Given the description of an element on the screen output the (x, y) to click on. 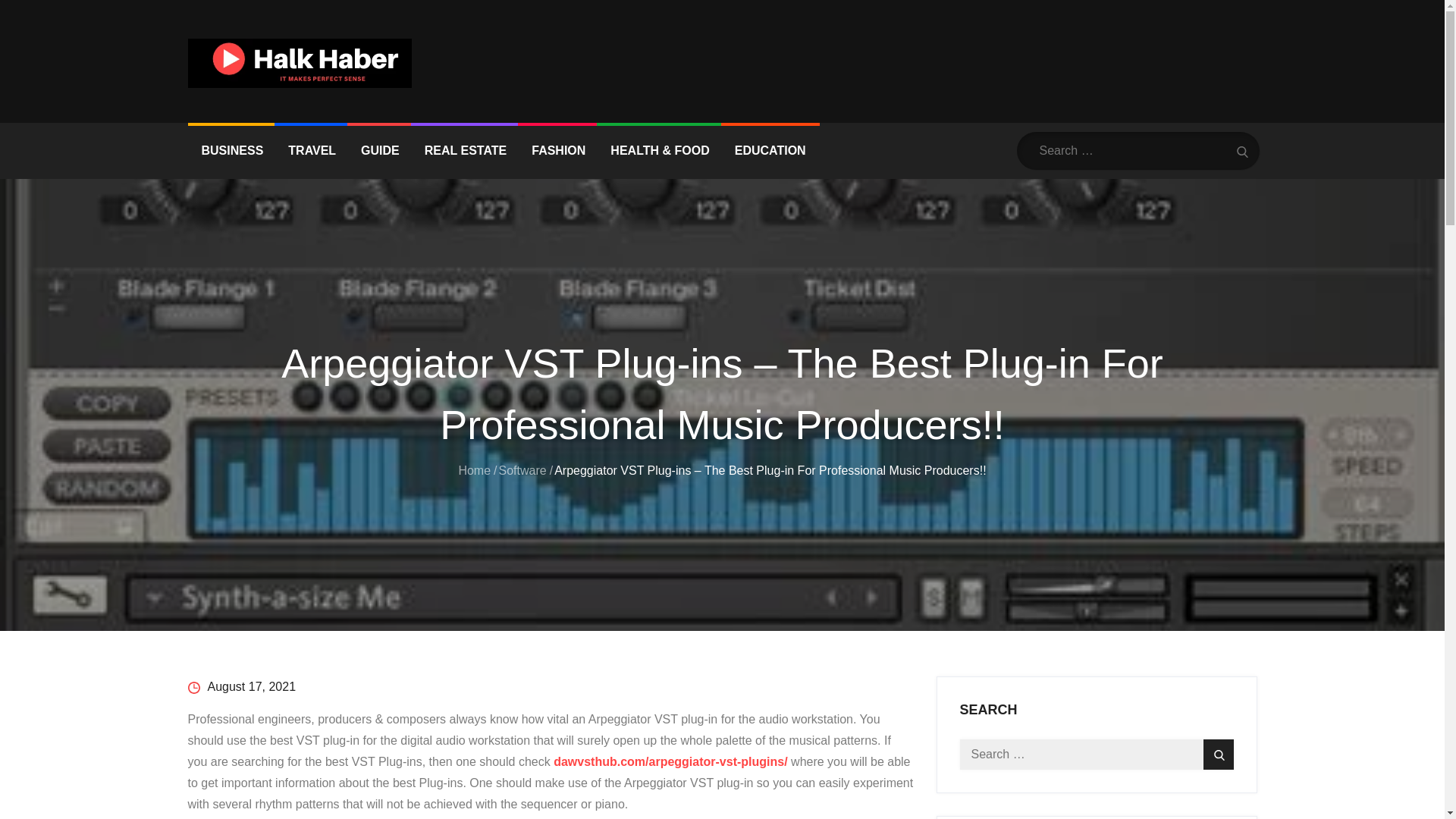
Search (1217, 754)
EDUCATION (769, 150)
TRAVEL (312, 150)
Software (523, 469)
REAL ESTATE (464, 150)
FASHION (558, 150)
BUSINESS (232, 150)
August 17, 2021 (242, 686)
GUIDE (380, 150)
Search (1242, 150)
HALK HABER (268, 99)
Home (474, 469)
